Given the description of an element on the screen output the (x, y) to click on. 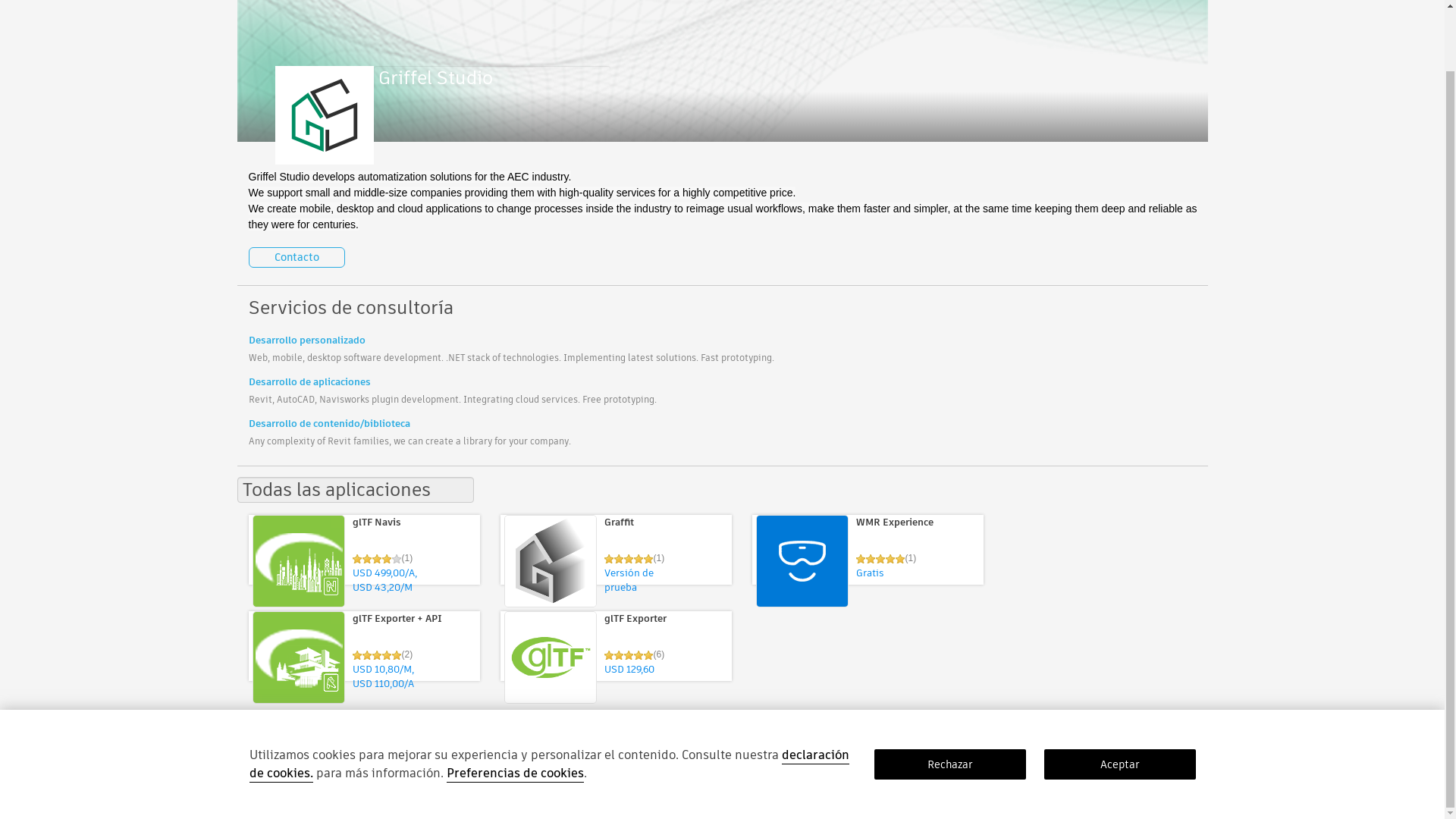
Dir. privacidad (278, 734)
Av. legales y marcas com. (369, 734)
Griffel Studio (491, 78)
Condiciones de uso (469, 734)
Contacto (296, 257)
Preg. frecuentes (601, 734)
Todas las aplicaciones (354, 489)
Contacto (662, 734)
